Given the description of an element on the screen output the (x, y) to click on. 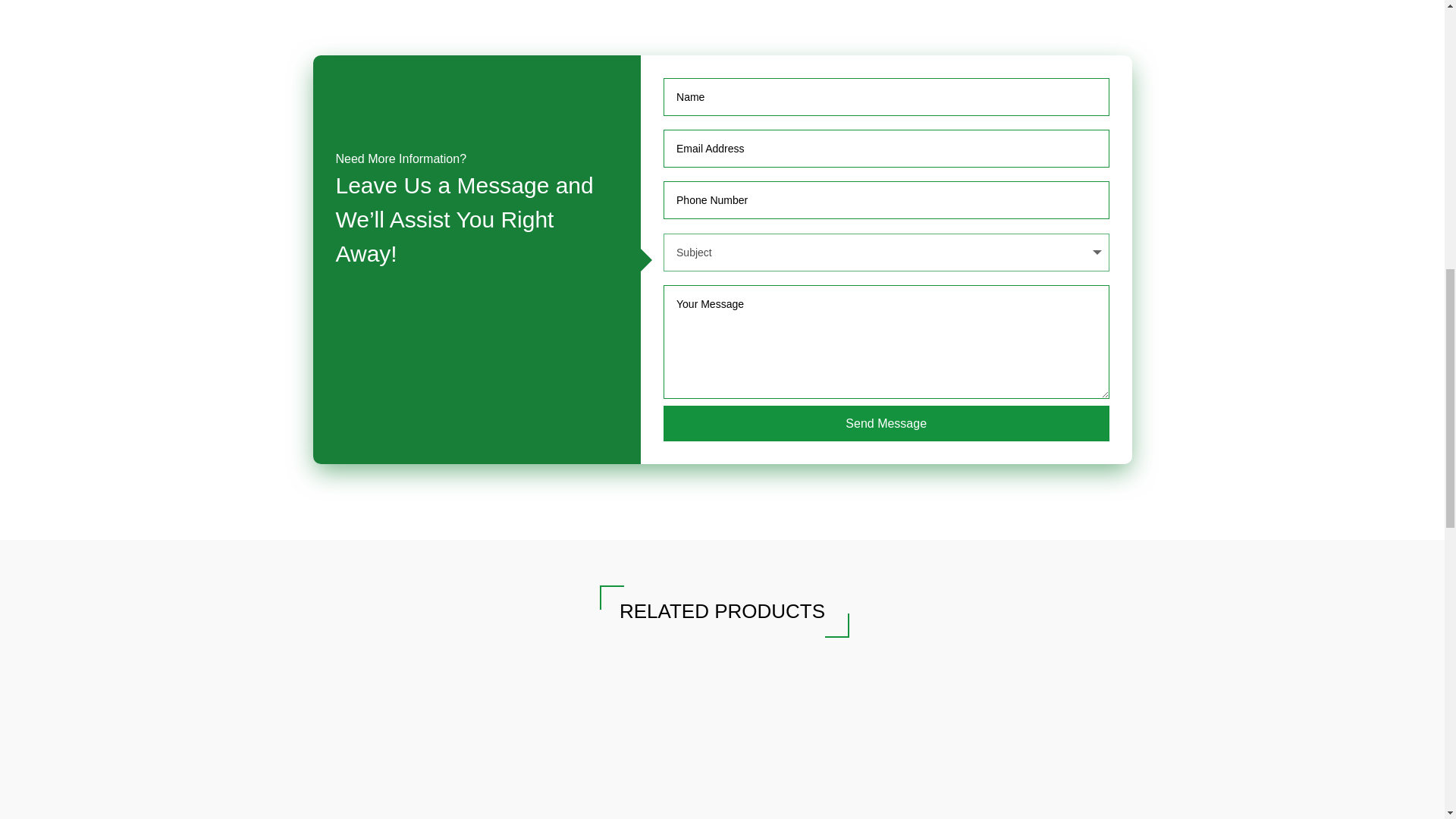
Only numbers allowed. (885, 199)
